Given the description of an element on the screen output the (x, y) to click on. 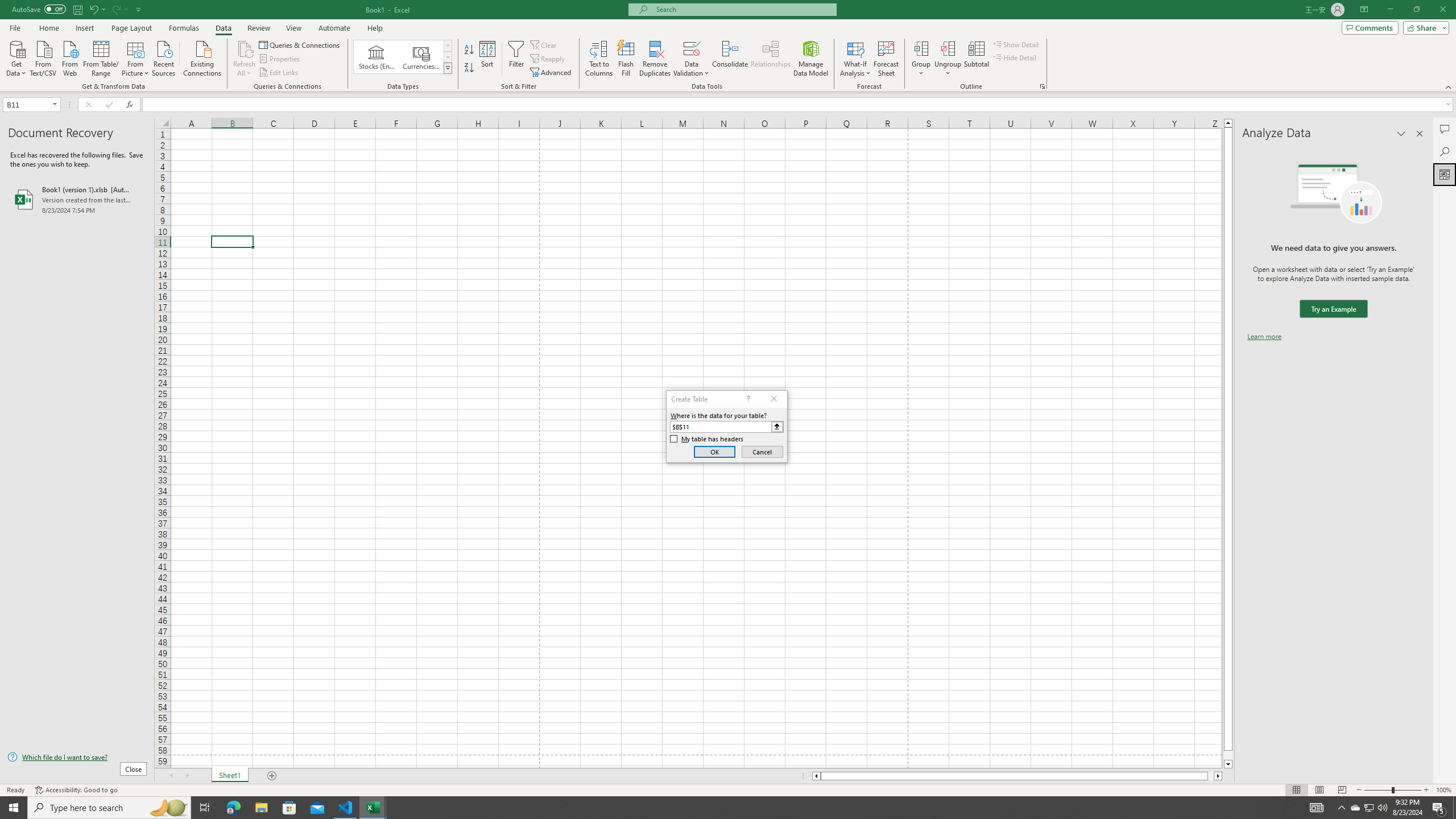
Advanced... (551, 72)
From Table/Range (100, 57)
Sort A to Z (469, 49)
From Text/CSV (43, 57)
